Given the description of an element on the screen output the (x, y) to click on. 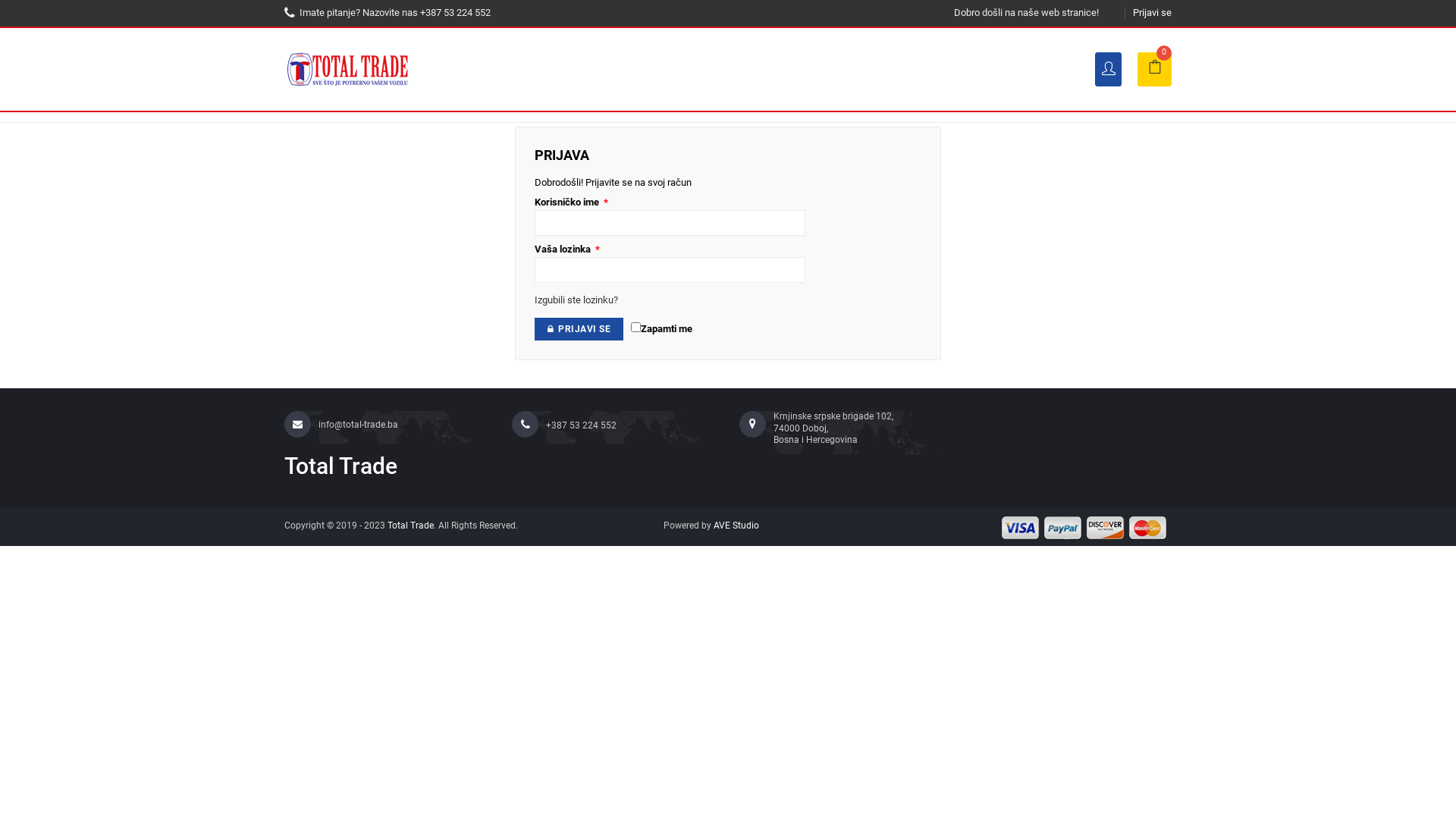
AVE Studio Element type: text (736, 525)
Discover Element type: hover (1105, 527)
Total Trade Element type: text (386, 466)
Total Trade Element type: text (410, 525)
  PRIJAVI SE Element type: text (578, 328)
Master Card Element type: hover (1148, 527)
Paypal Element type: hover (1063, 527)
0 Element type: text (1154, 69)
Visa Element type: hover (1020, 527)
Izgubili ste lozinku? Element type: text (576, 299)
Total Trade d.o.o. Element type: hover (348, 68)
Prijavi se Element type: text (1151, 12)
